Given the description of an element on the screen output the (x, y) to click on. 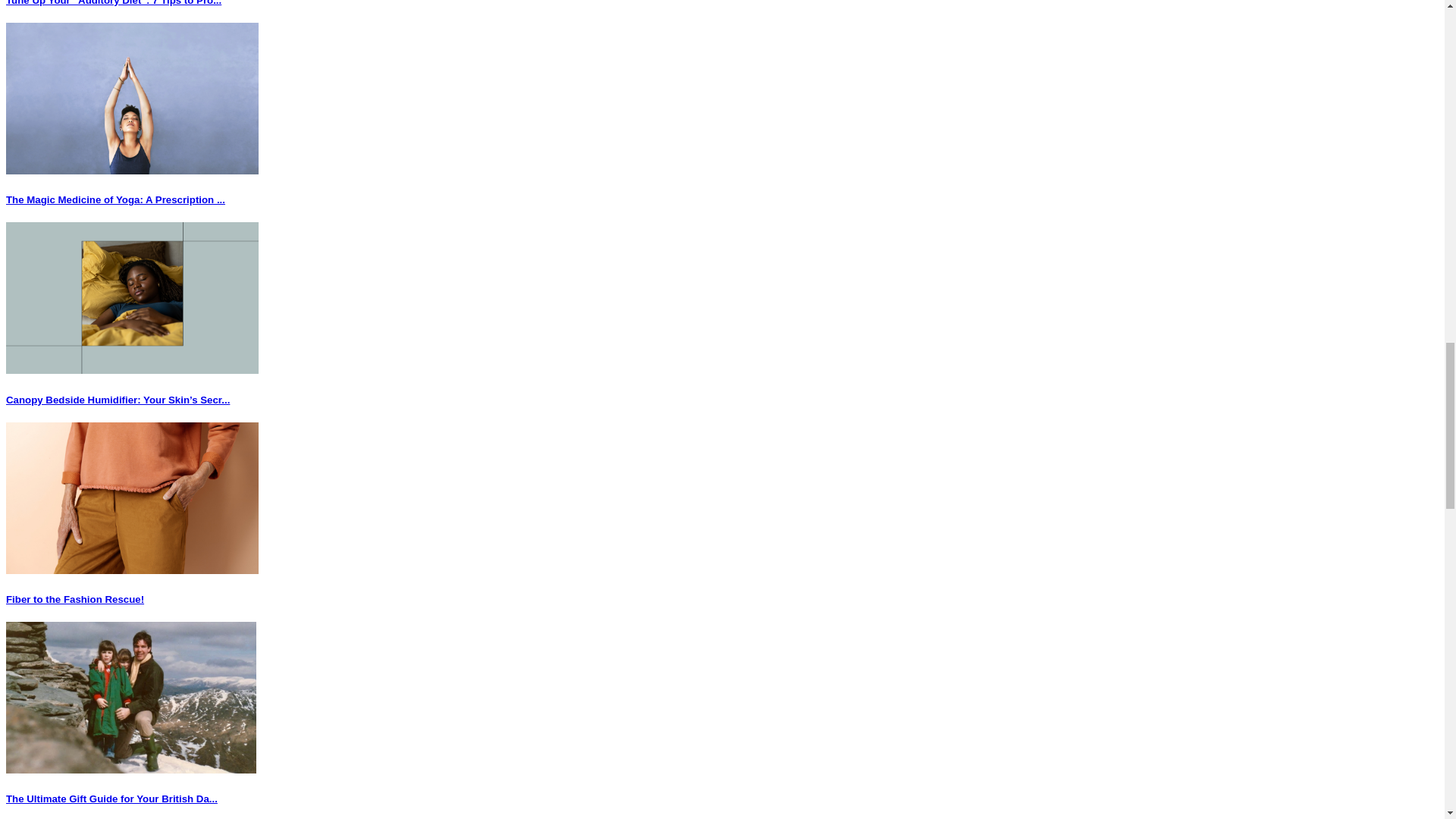
Fiber to the Fashion Rescue! (74, 599)
The Ultimate Gift Guide for Your British Da... (110, 798)
The Magic Medicine of Yoga: A Prescription ... (115, 199)
